Given the description of an element on the screen output the (x, y) to click on. 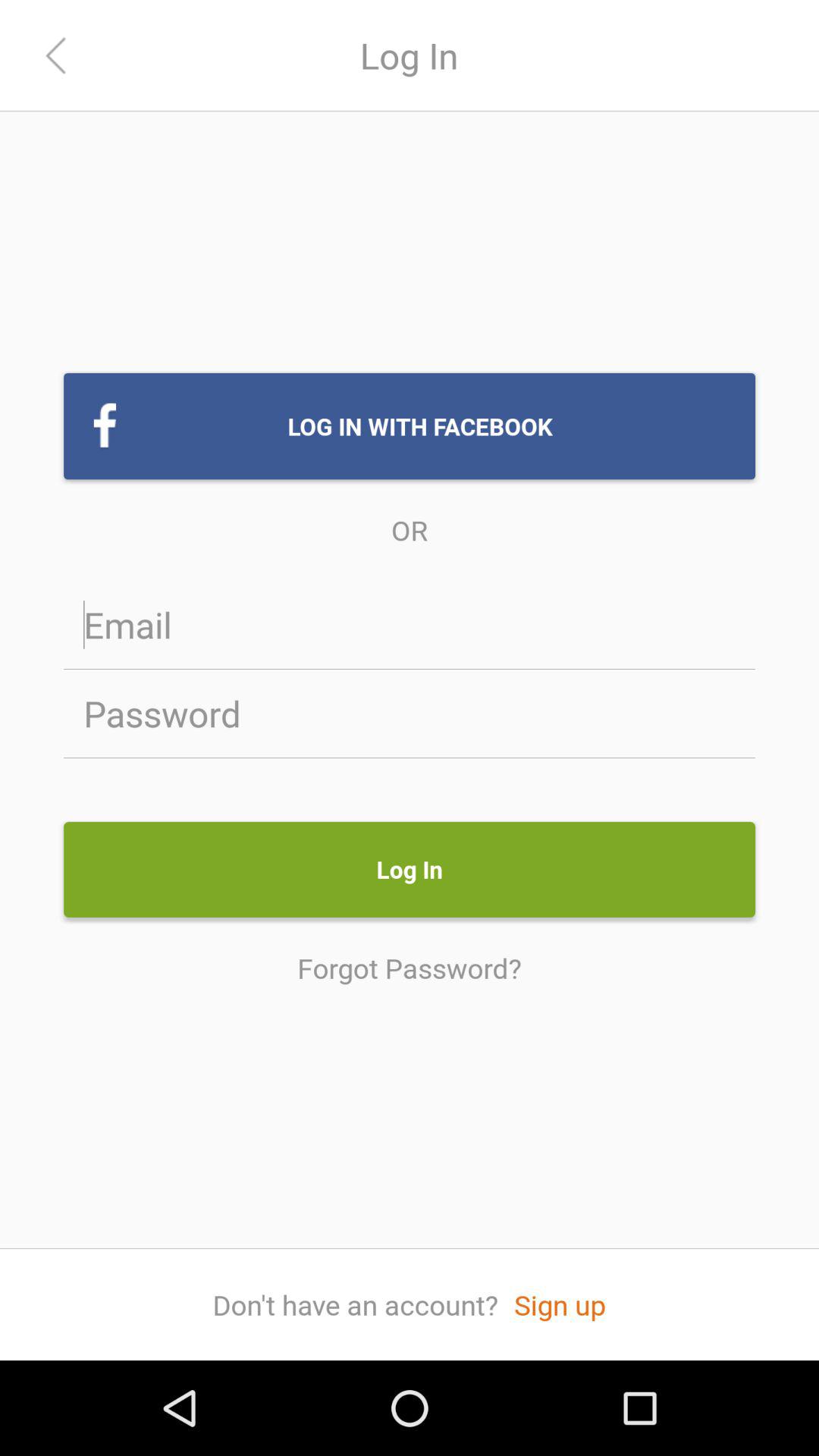
enter email address (409, 624)
